Given the description of an element on the screen output the (x, y) to click on. 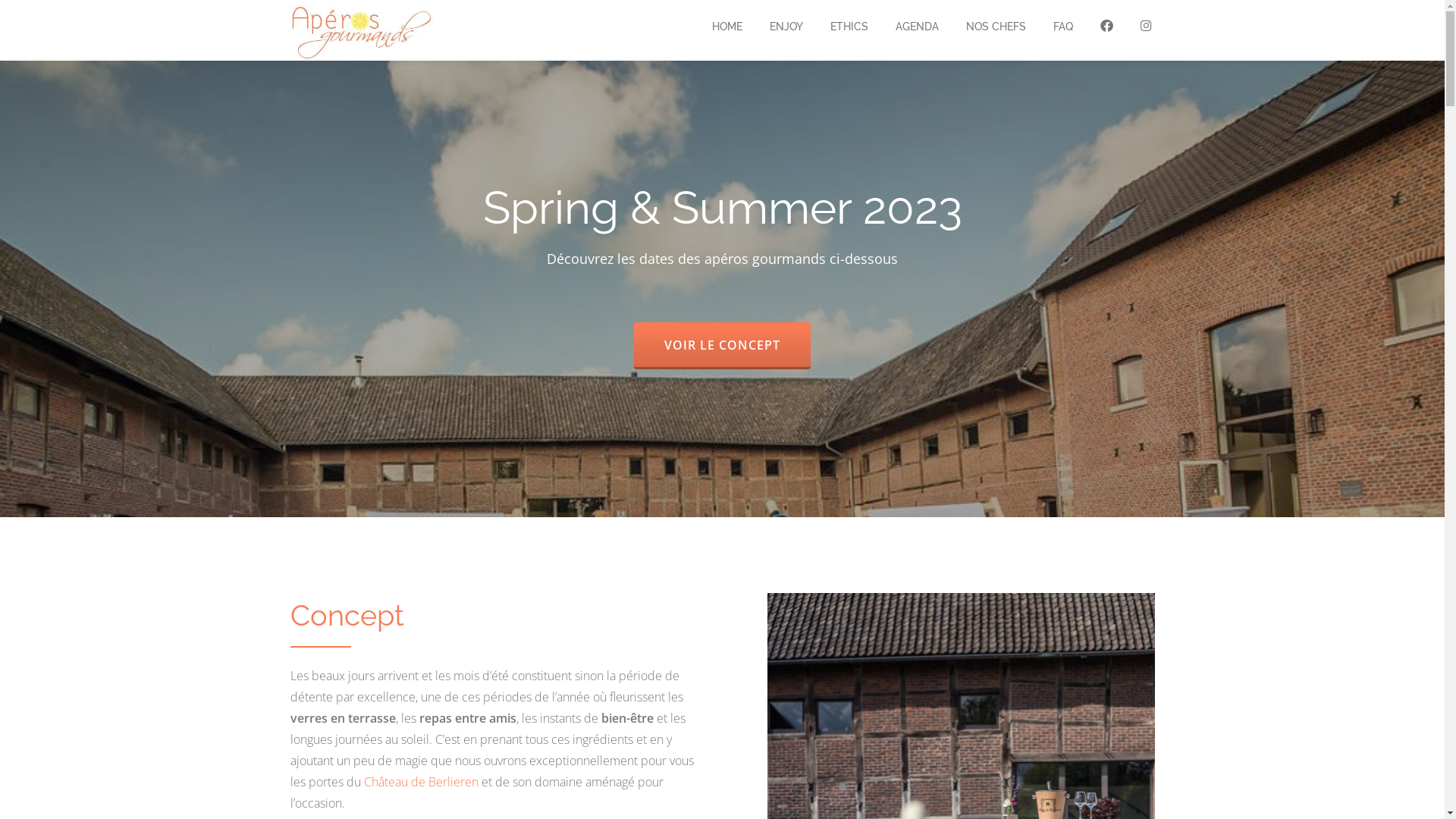
Aller au contenu Element type: text (0, 30)
NOS CHEFS Element type: text (996, 26)
FAQ Element type: text (1062, 26)
FACEBOOK Element type: text (1105, 26)
ENJOY Element type: text (785, 26)
HOME Element type: text (726, 26)
AGENDA Element type: text (916, 26)
INSTAGRAM Element type: text (1145, 26)
ETHICS Element type: text (848, 26)
